Given the description of an element on the screen output the (x, y) to click on. 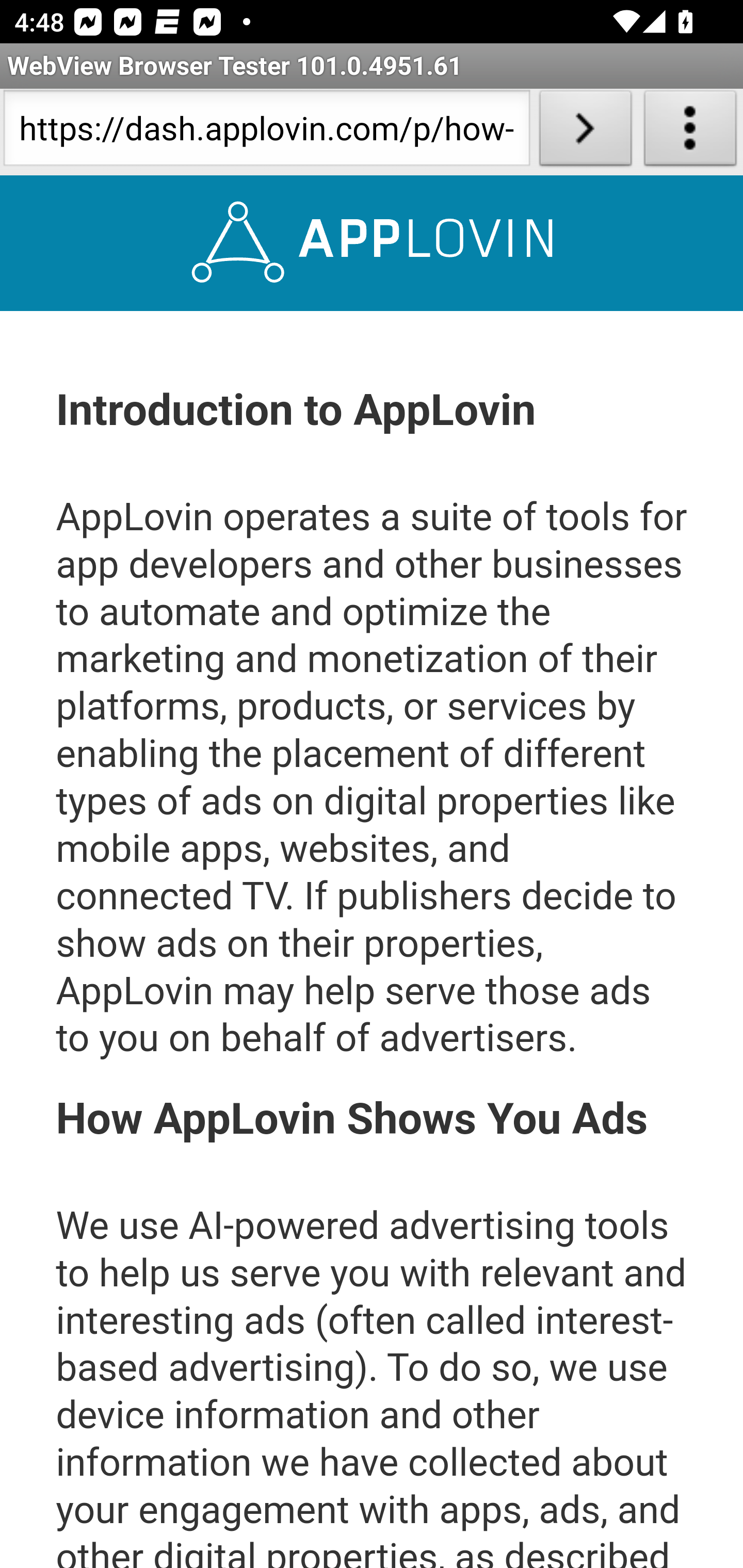
Load URL (585, 132)
About WebView (690, 132)
